Given the description of an element on the screen output the (x, y) to click on. 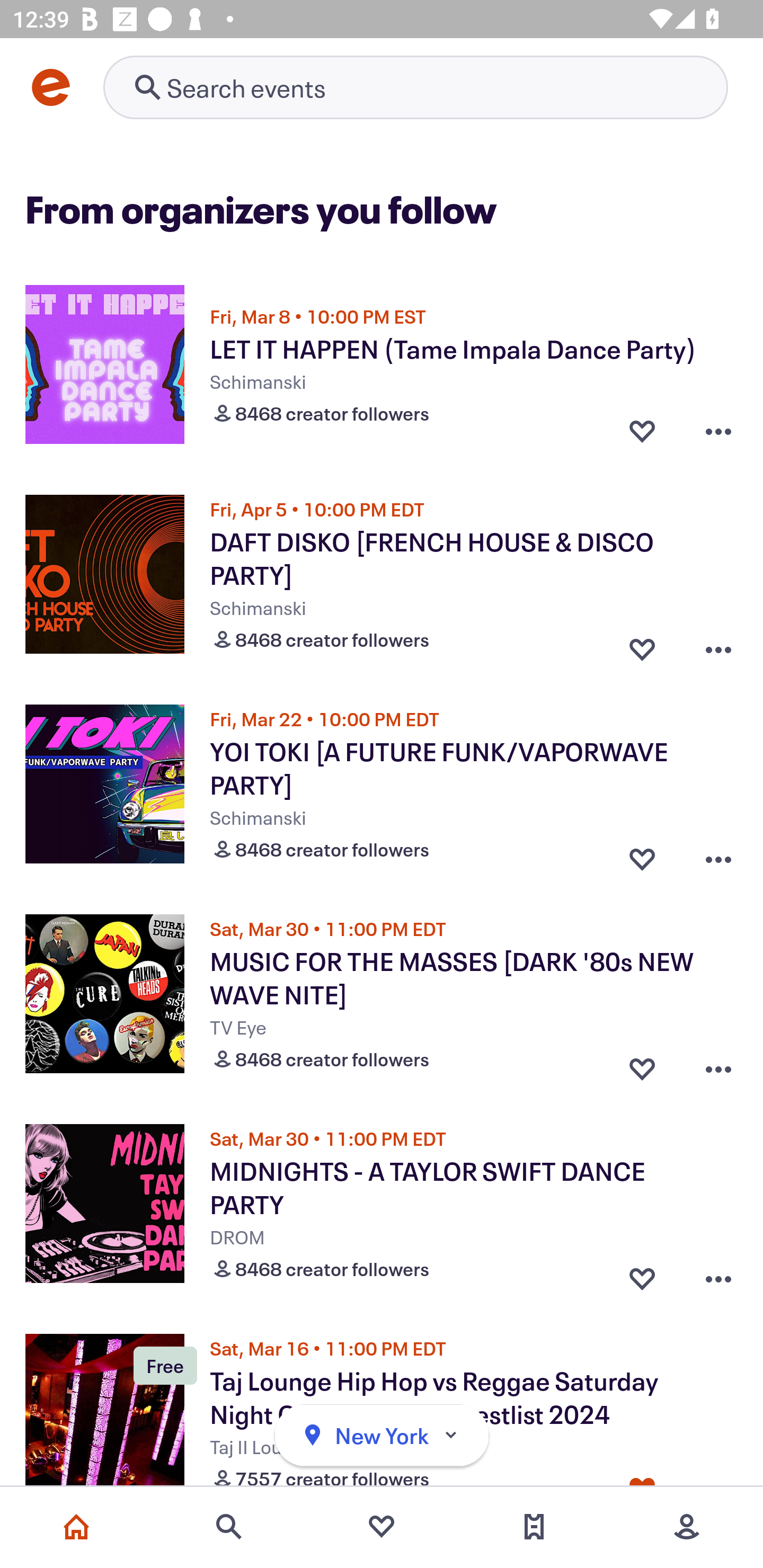
Retry's image Search events (415, 86)
Favorite button (642, 430)
Overflow menu button (718, 430)
Favorite button (642, 644)
Overflow menu button (718, 644)
Favorite button (642, 855)
Overflow menu button (718, 855)
Favorite button (642, 1065)
Overflow menu button (718, 1065)
Favorite button (642, 1274)
Overflow menu button (718, 1274)
New York (381, 1435)
Home (76, 1526)
Search events (228, 1526)
Favorites (381, 1526)
Tickets (533, 1526)
More (686, 1526)
